Given the description of an element on the screen output the (x, y) to click on. 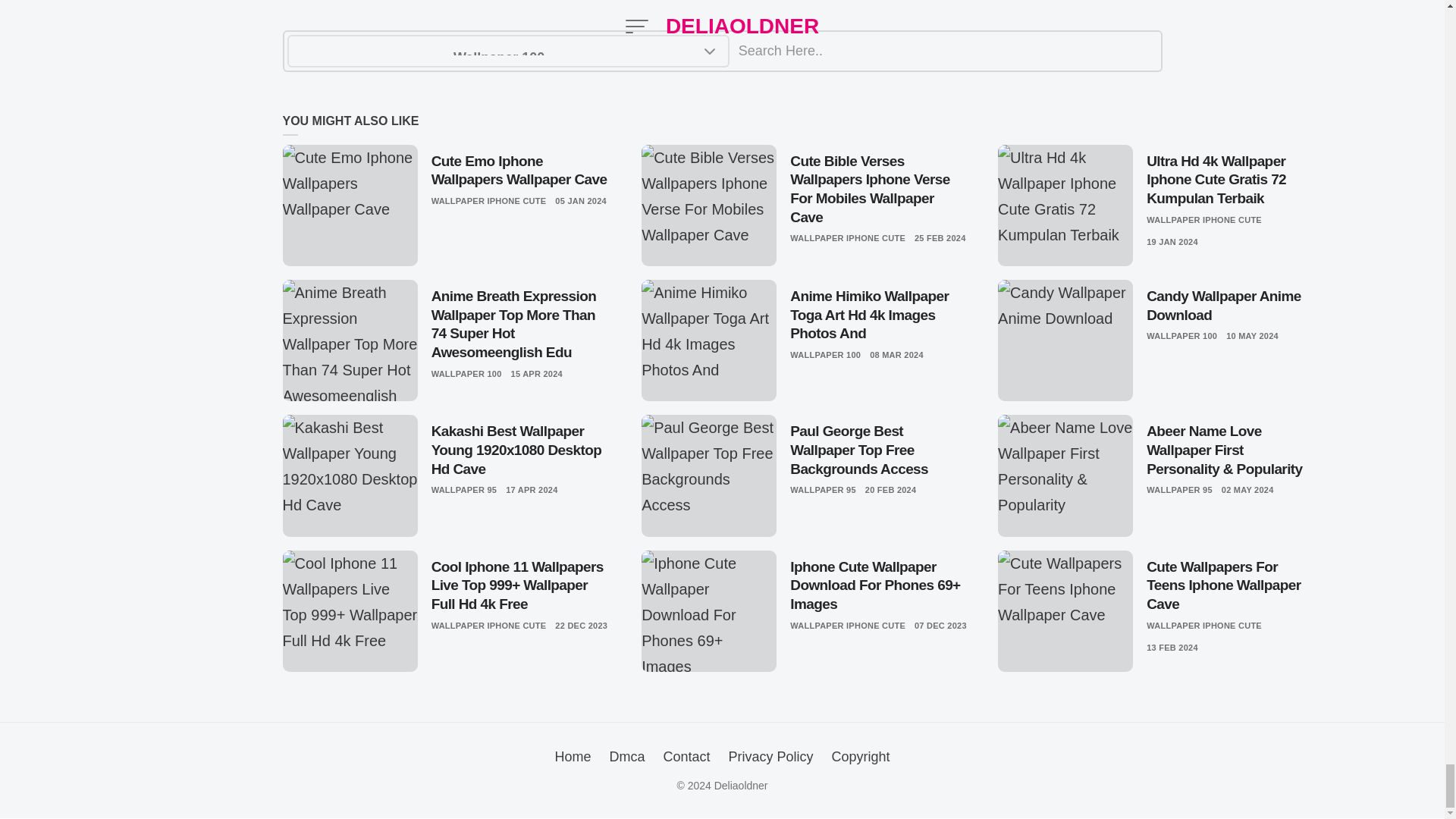
WALLPAPER IPHONE CUTE (847, 238)
WALLPAPER IPHONE CUTE (489, 201)
Anime Himiko Wallpaper Toga Art Hd 4k Images Photos And (879, 315)
WALLPAPER 100 (466, 374)
Candy Wallpaper Anime Download (1233, 305)
Cute Emo Iphone Wallpapers Wallpaper Cave (520, 170)
WALLPAPER IPHONE CUTE (1204, 220)
Ultra Hd 4k Wallpaper Iphone Cute Gratis 72 Kumpulan Terbaik (1233, 180)
WALLPAPER 100 (825, 355)
